Given the description of an element on the screen output the (x, y) to click on. 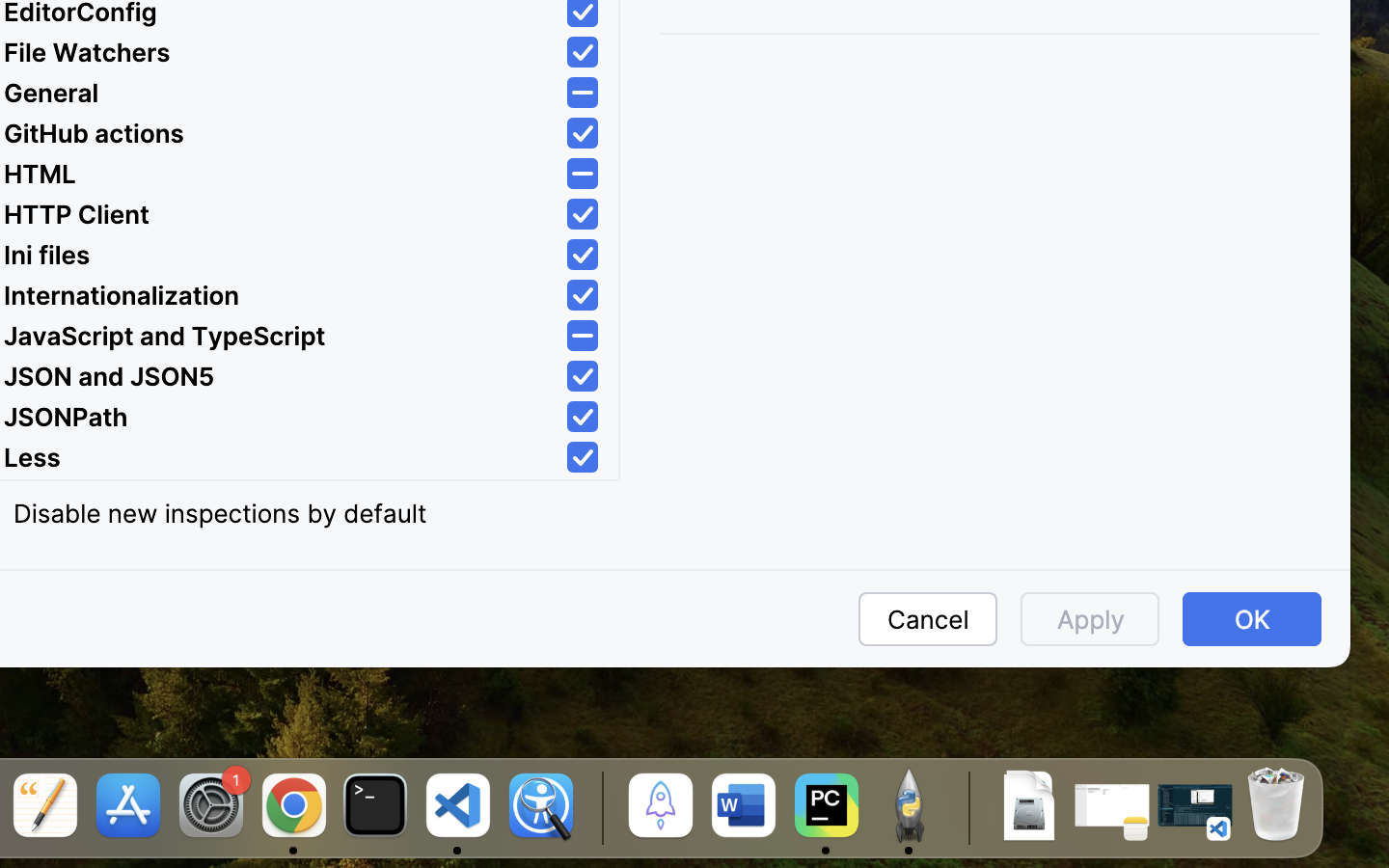
0.4285714328289032 Element type: AXDockItem (598, 807)
1 Element type: AXCheckBox (582, 133)
1 Element type: AXCell (582, 52)
